Given the description of an element on the screen output the (x, y) to click on. 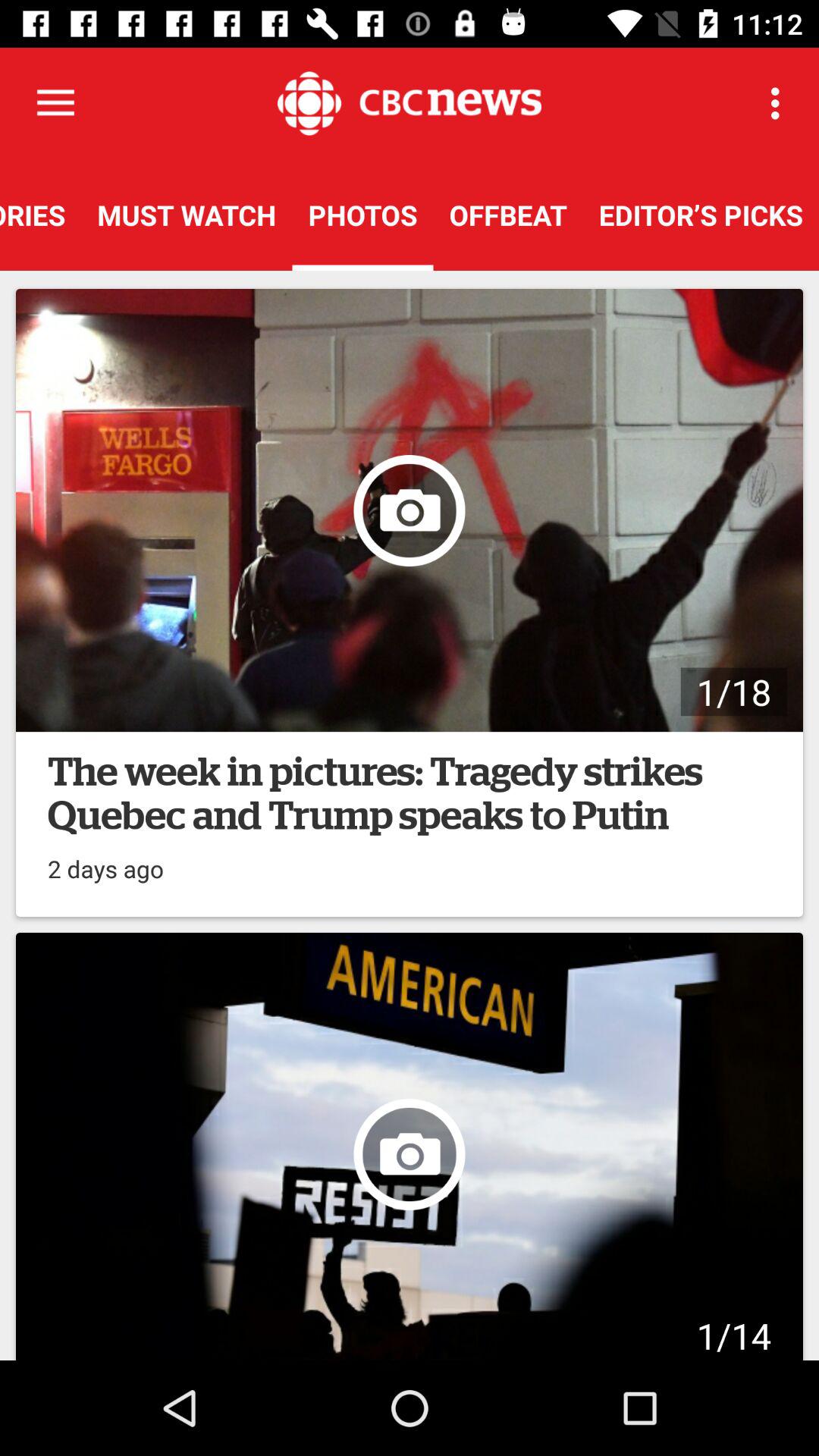
click the photos item (362, 214)
